Given the description of an element on the screen output the (x, y) to click on. 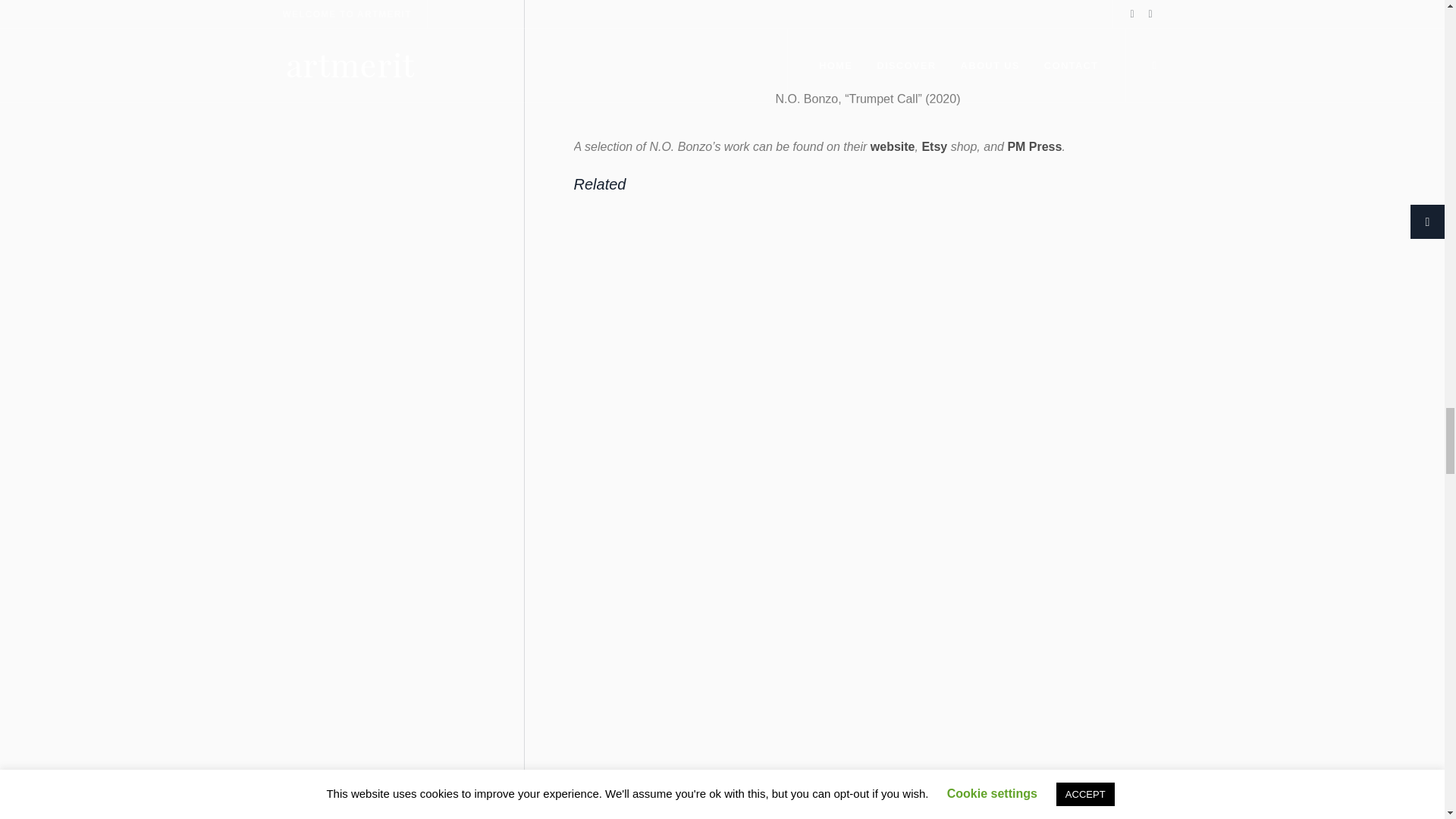
Etsy (934, 146)
PM Press (1034, 146)
website (892, 146)
